Given the description of an element on the screen output the (x, y) to click on. 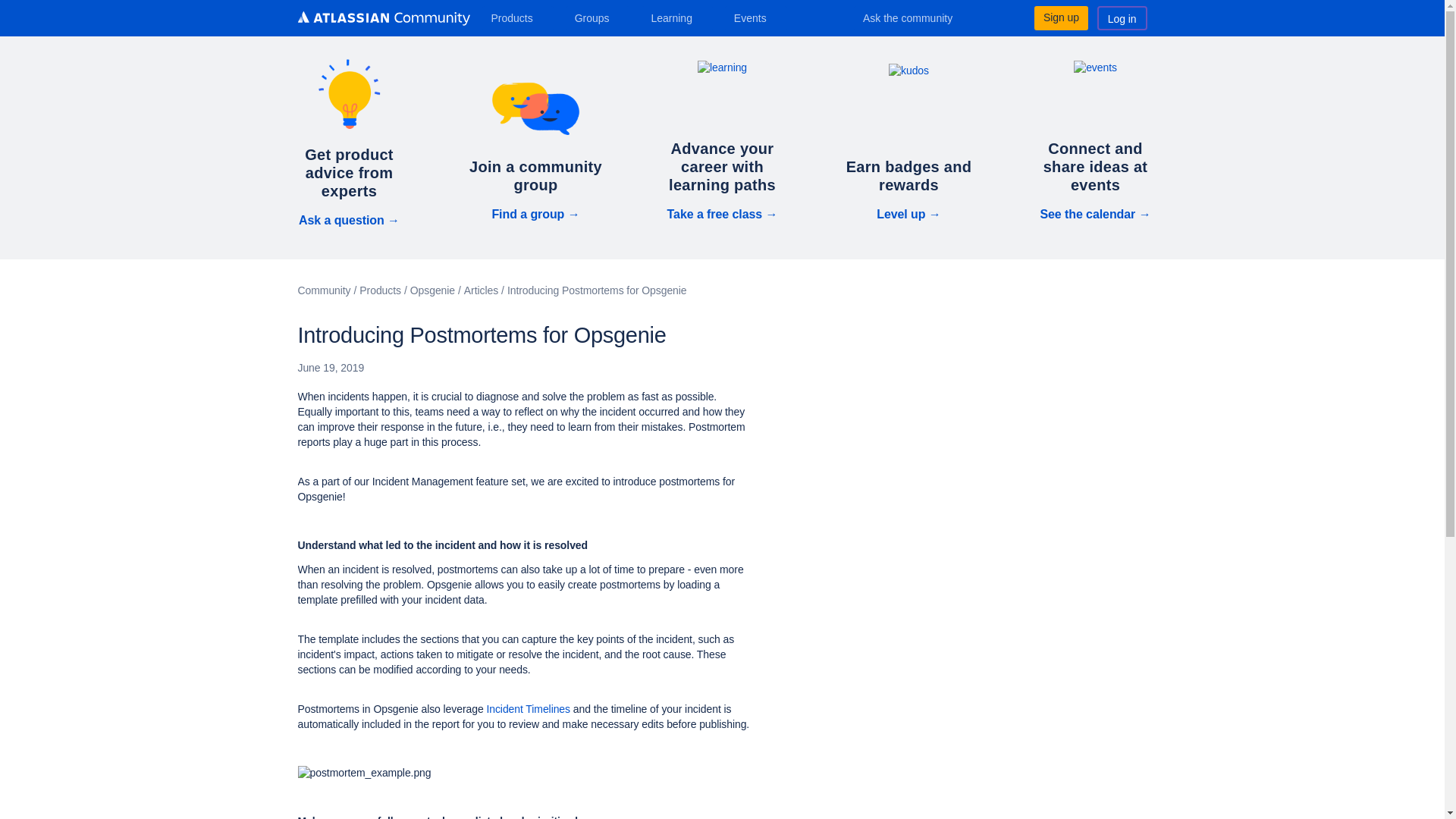
Atlassian Community logo (382, 18)
Sign up (1060, 17)
Events (756, 17)
Groups (598, 17)
Log in (1122, 17)
Ask the community  (917, 17)
Atlassian Community logo (382, 19)
Learning (676, 17)
Products (517, 17)
